Given the description of an element on the screen output the (x, y) to click on. 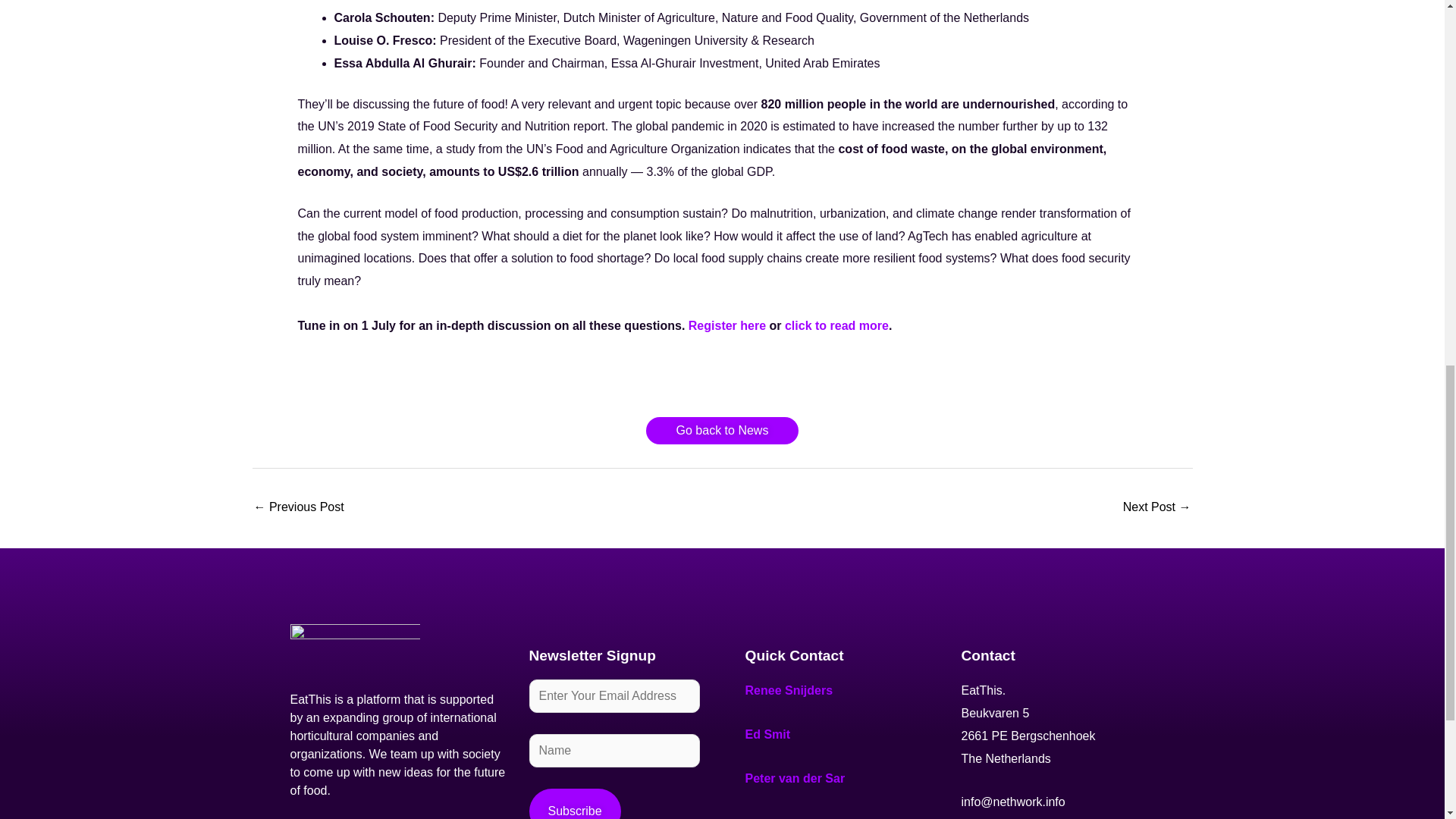
click to read more (836, 325)
Renee Snijders (788, 689)
Register here (726, 325)
Go back to News (722, 430)
Subscribe (575, 803)
Ed Smit (767, 734)
Peter van der Sar (794, 778)
Subscribe (575, 803)
